Given the description of an element on the screen output the (x, y) to click on. 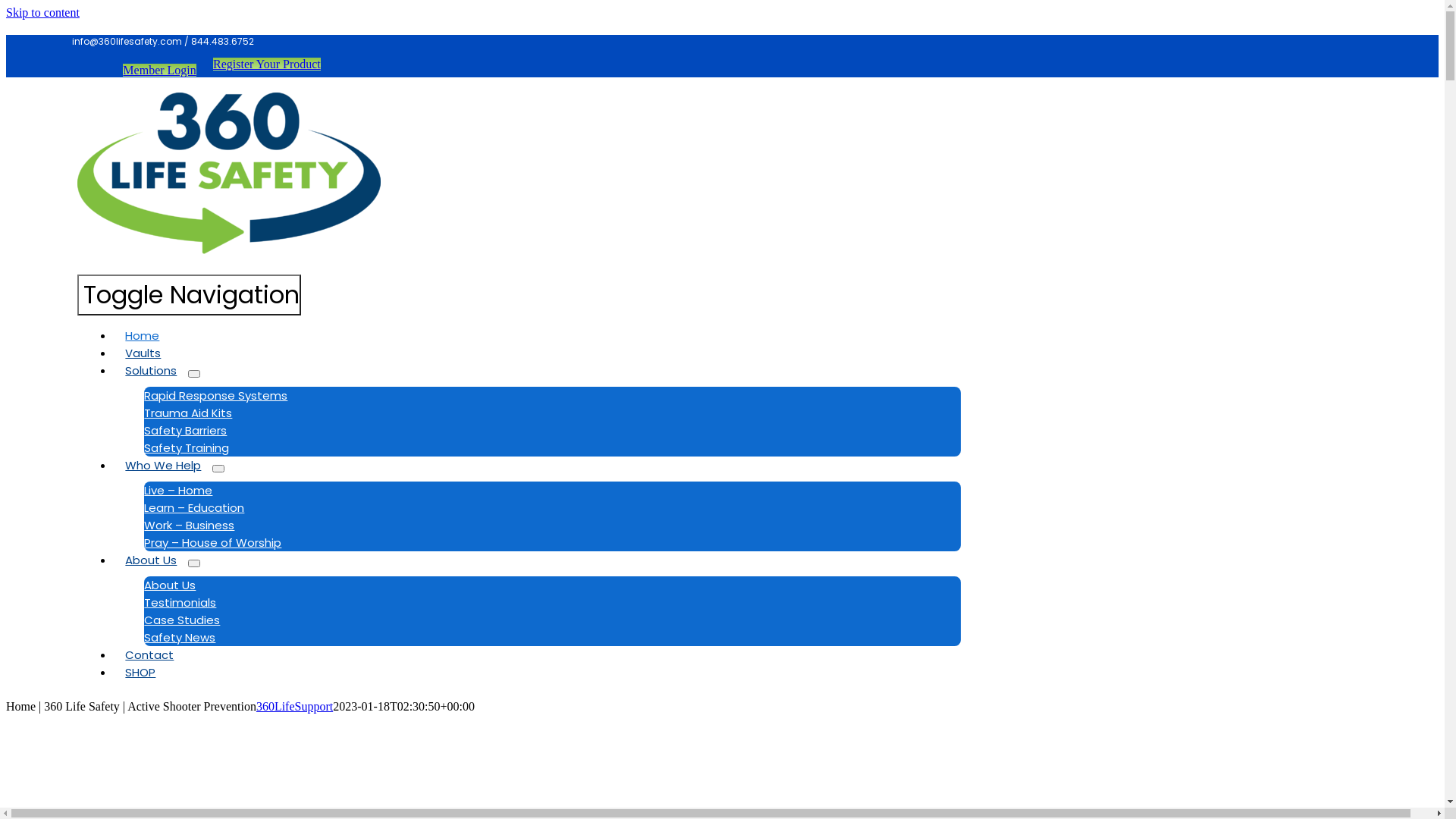
Vaults Element type: text (142, 353)
SHOP Element type: text (139, 672)
About Us Element type: text (169, 585)
Register Your Product Element type: text (266, 63)
Who We Help Element type: text (162, 465)
Skip to content Element type: text (42, 12)
Testimonials Element type: text (180, 602)
Case Studies Element type: text (181, 619)
Toggle Navigation Element type: text (189, 294)
360LifeSupport Element type: text (294, 705)
Solutions Element type: text (150, 370)
Rapid Response Systems Element type: text (215, 395)
Trauma Aid Kits Element type: text (188, 412)
Safety Training Element type: text (186, 447)
Member Login Element type: text (158, 69)
Home Element type: text (141, 335)
Safety News Element type: text (179, 637)
About Us Element type: text (150, 560)
Contact Element type: text (149, 654)
Safety Barriers Element type: text (185, 430)
